Given the description of an element on the screen output the (x, y) to click on. 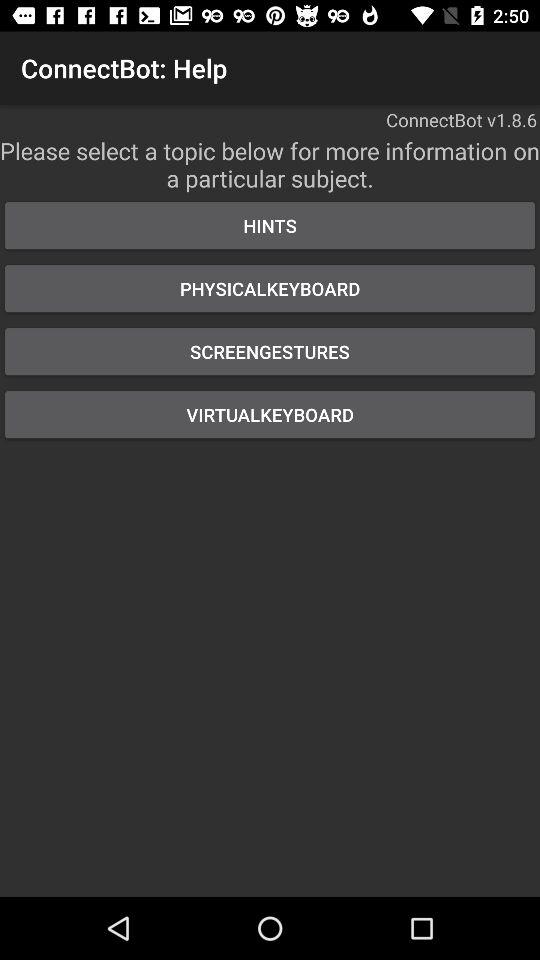
turn off the button above virtualkeyboard icon (270, 351)
